Given the description of an element on the screen output the (x, y) to click on. 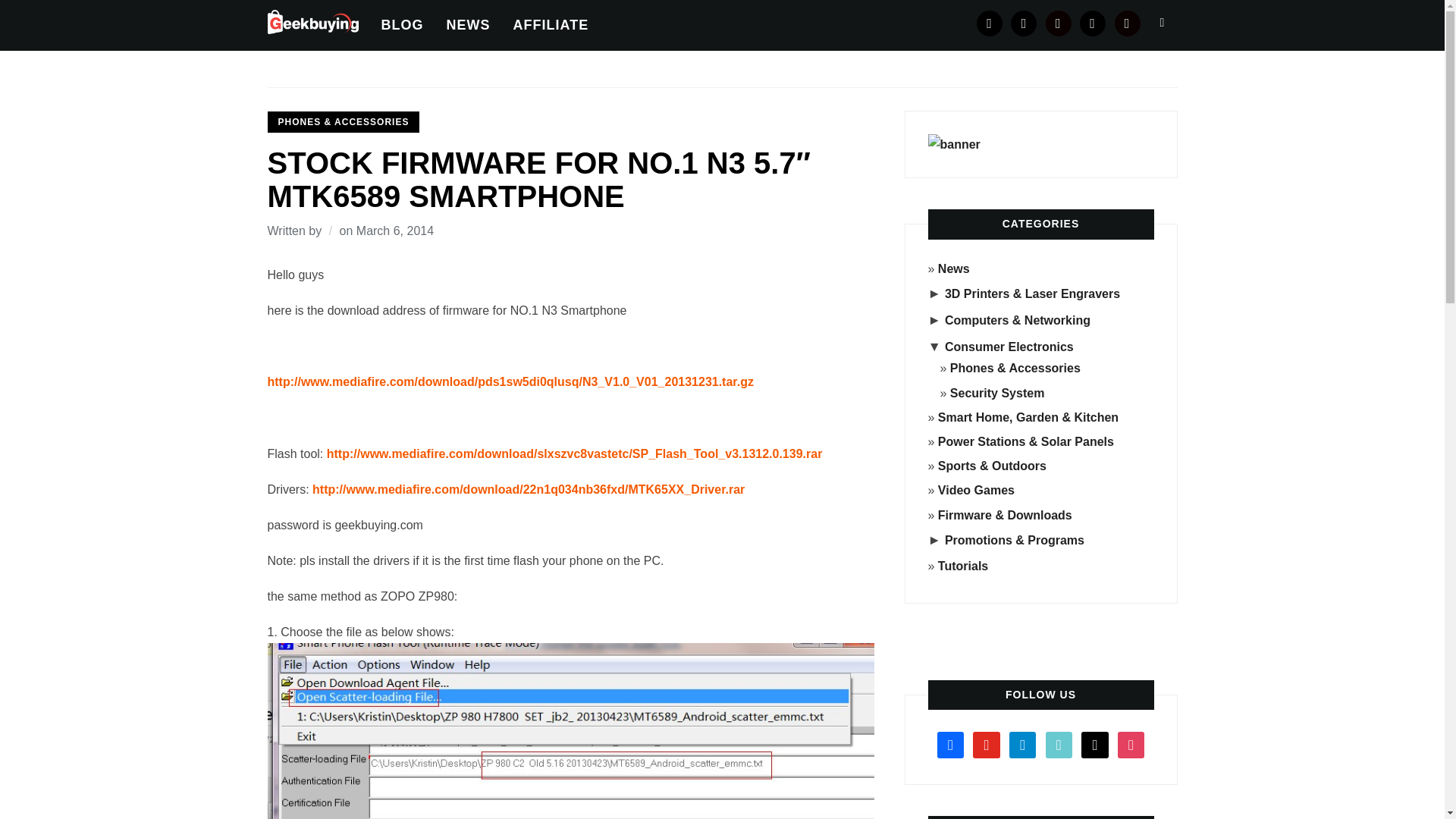
NEWS (467, 25)
News (953, 268)
Facebook (989, 22)
AFFILIATE (550, 25)
View all posts filed under Consumer Electronics (1009, 346)
View all posts filed under News (953, 268)
Instagram (1058, 22)
X (1092, 22)
BLOG (401, 25)
Search (1161, 22)
